Given the description of an element on the screen output the (x, y) to click on. 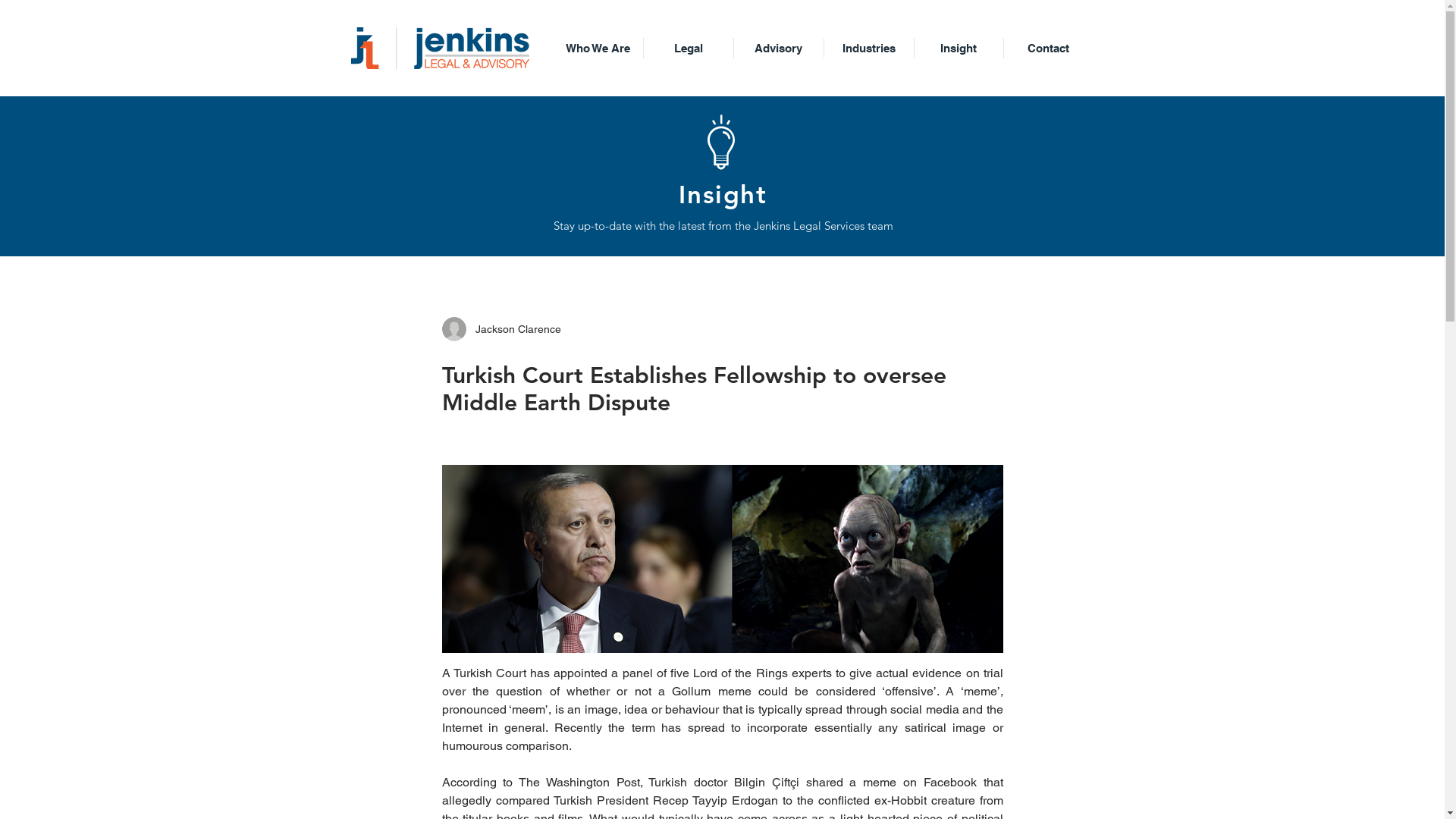
Contact Element type: text (1048, 47)
Legal Element type: text (687, 47)
Insight Element type: text (958, 47)
Industries Element type: text (868, 47)
Who We Are Element type: text (597, 47)
Advisory Element type: text (778, 47)
